Given the description of an element on the screen output the (x, y) to click on. 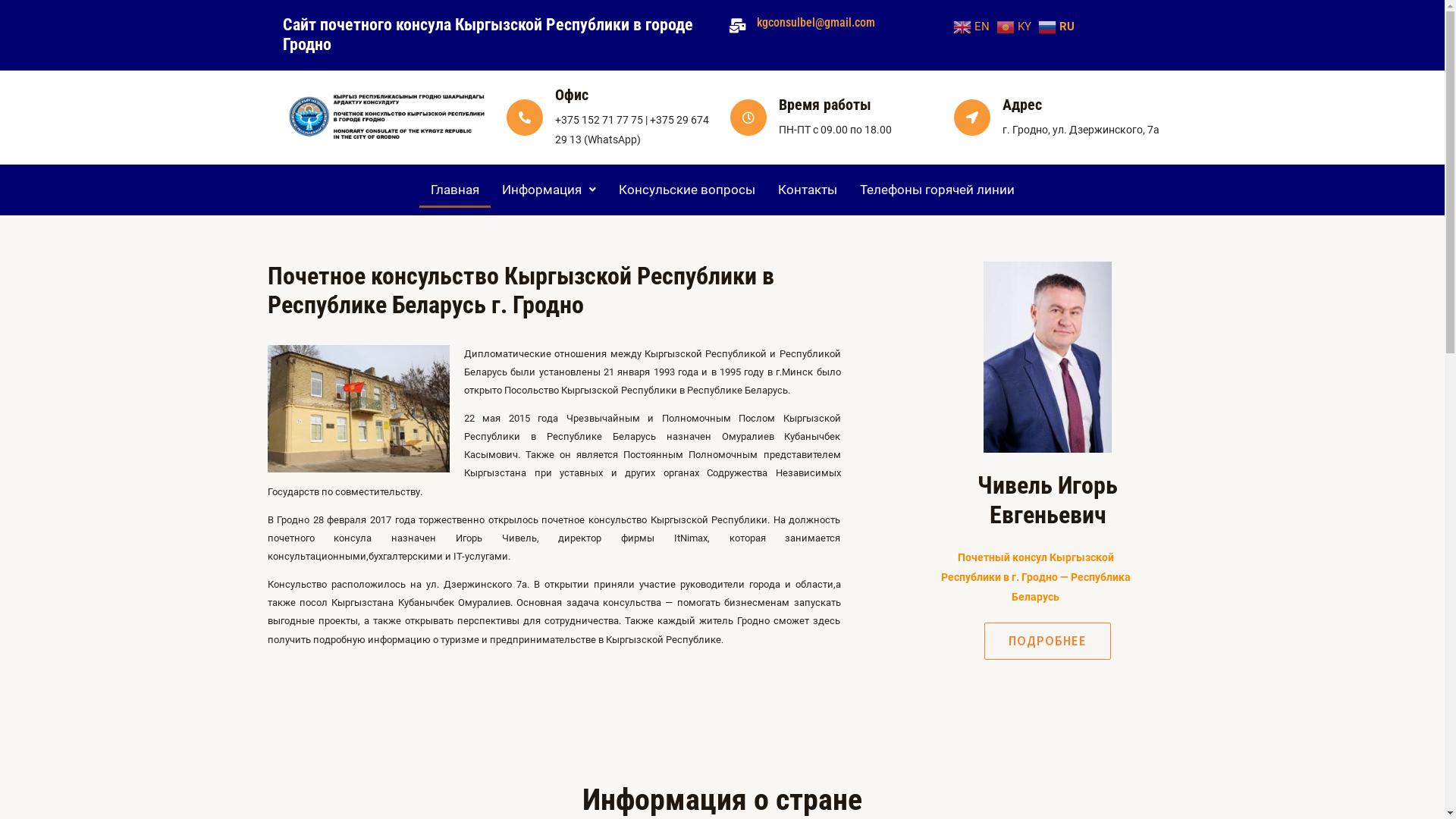
kgconsulbel@gmail.com Element type: text (815, 22)
RU Element type: text (1058, 25)
KY Element type: text (1015, 25)
EN Element type: text (973, 25)
